Given the description of an element on the screen output the (x, y) to click on. 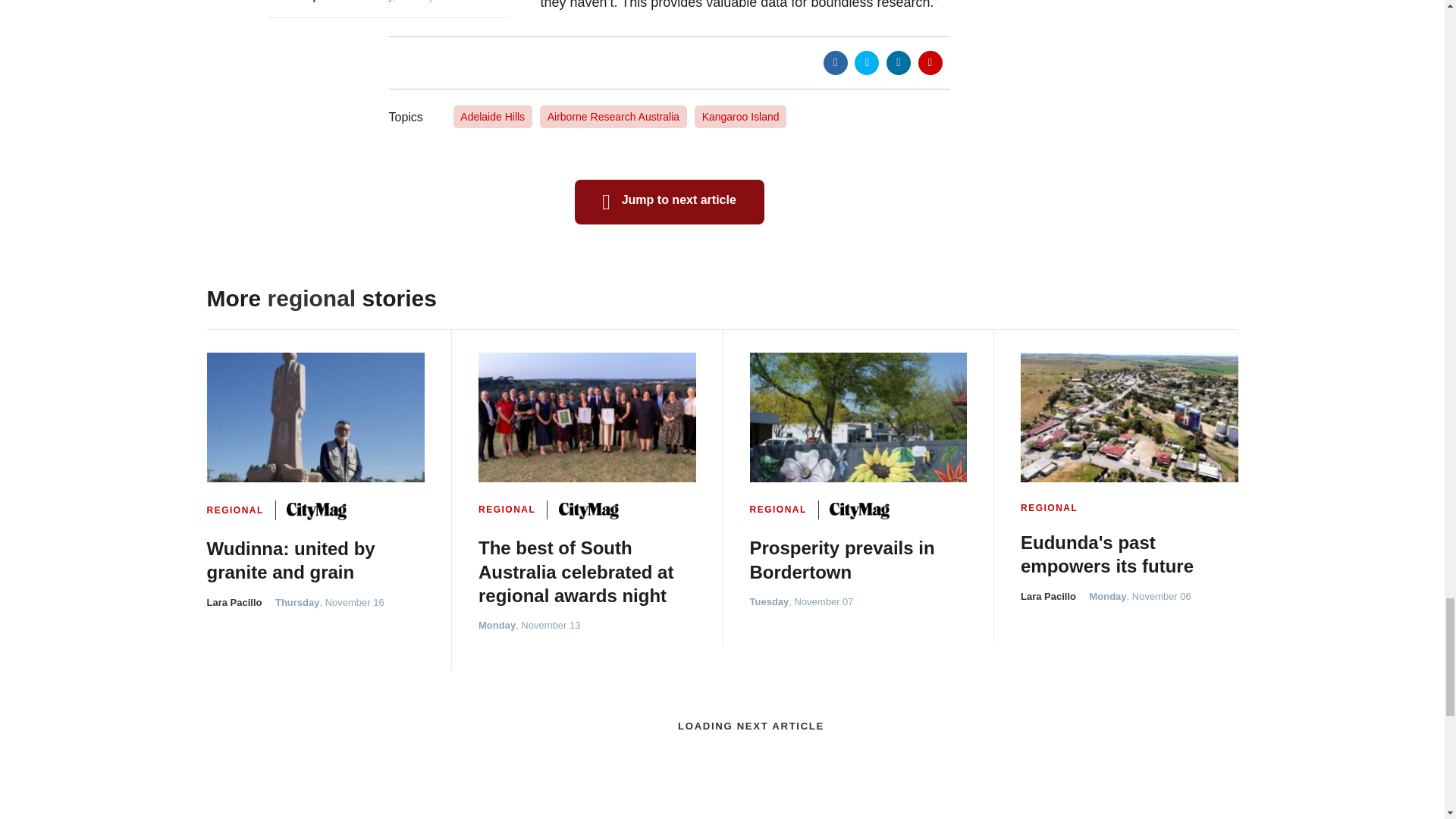
Andrew Spence (304, 1)
